Given the description of an element on the screen output the (x, y) to click on. 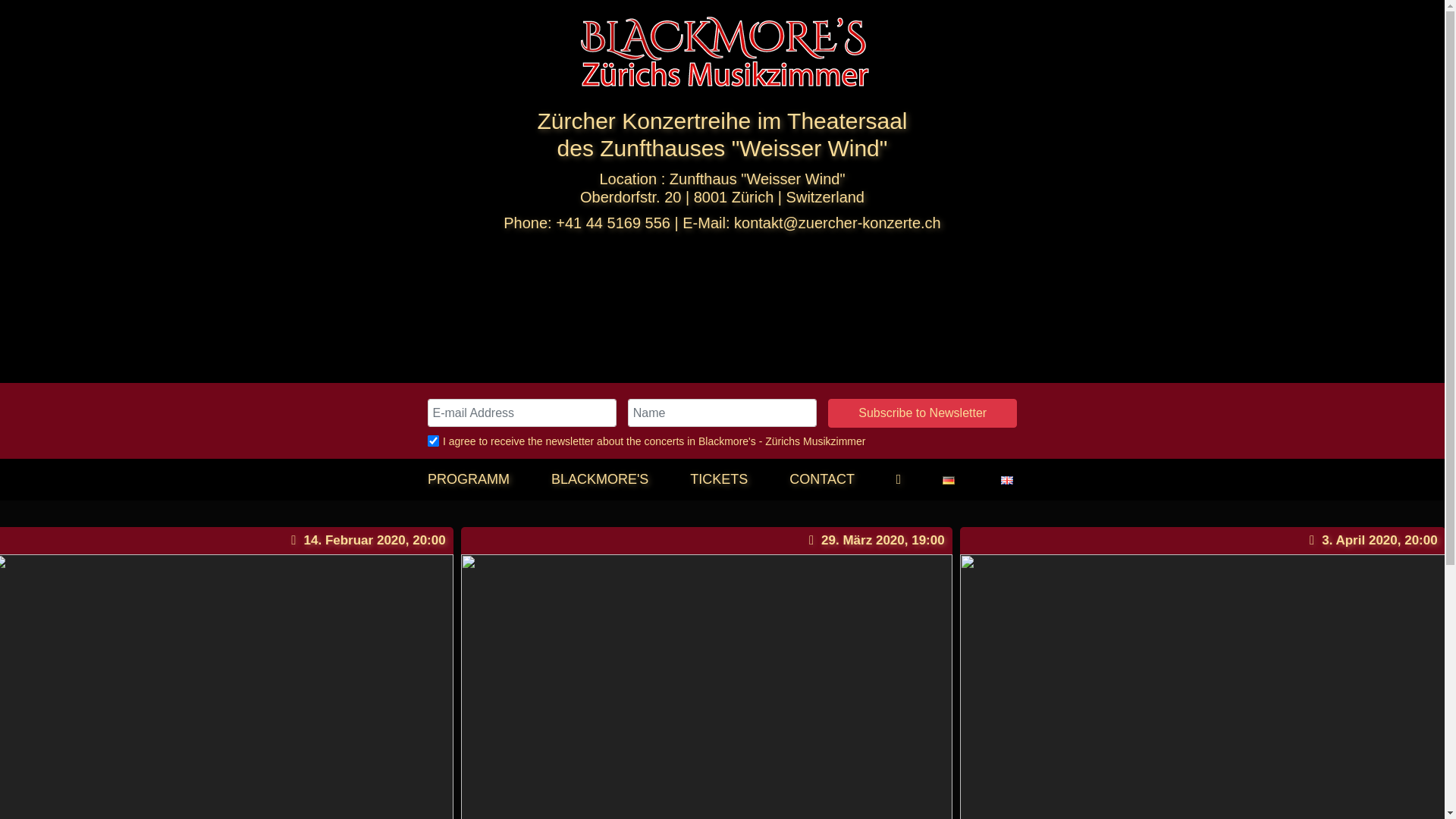
TICKETS Element type: text (718, 478)
BLACKMORE'S Element type: text (599, 478)
Deutsch Element type: hover (948, 480)
English Element type: hover (1007, 480)
PROGRAMM Element type: text (468, 478)
Subscribe to Newsletter Element type: text (922, 412)
CONTACT Element type: text (821, 478)
